Given the description of an element on the screen output the (x, y) to click on. 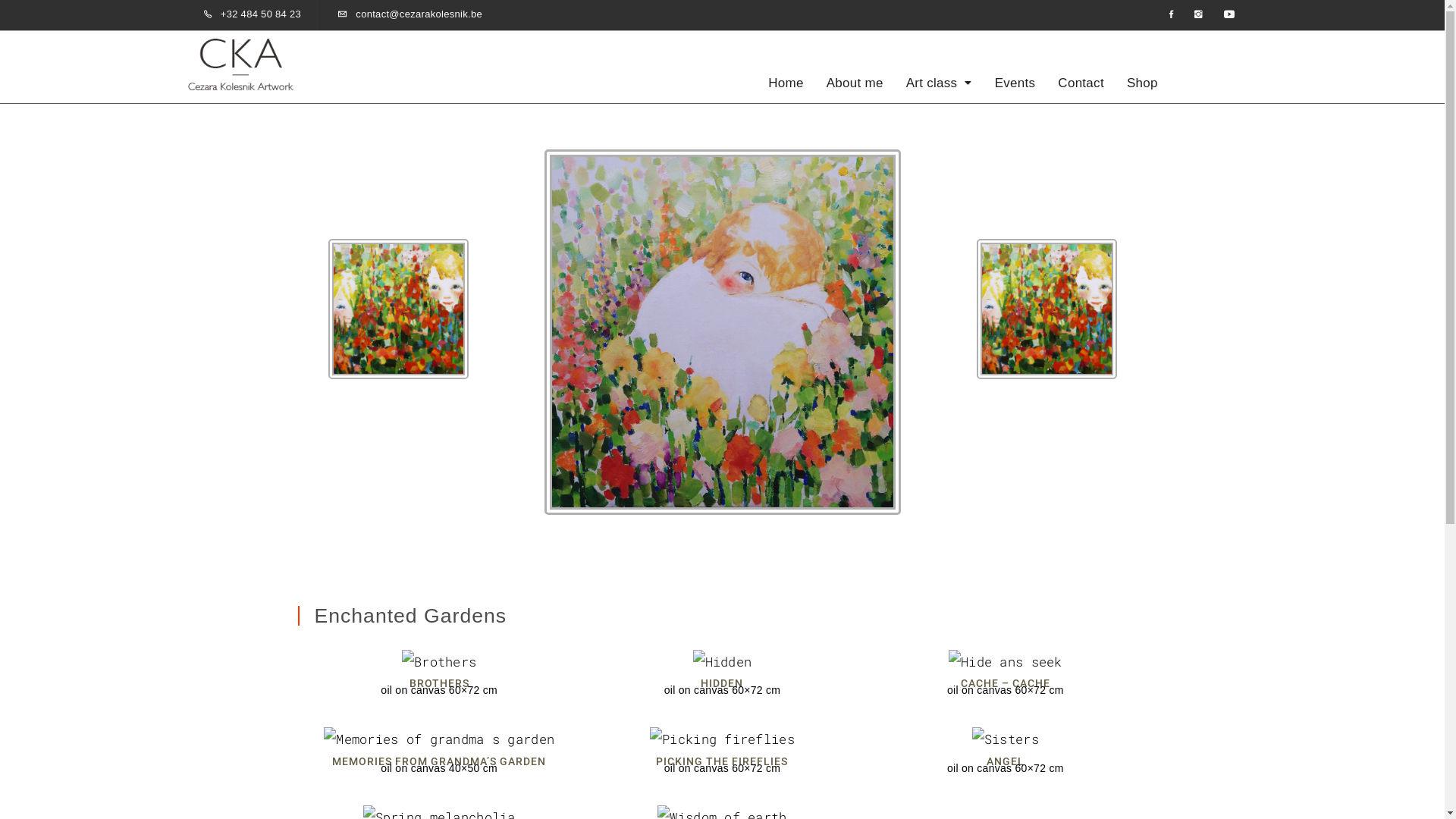
Brothers Element type: hover (438, 661)
About me Element type: text (854, 82)
Contact Element type: text (1080, 82)
Shop Element type: text (1142, 82)
Home Element type: text (785, 82)
+32 484 50 84 23 Element type: text (260, 13)
Picking fireflies Element type: hover (721, 739)
Hidden Element type: hover (722, 661)
Memories of grandma s garden Element type: hover (438, 739)
contact@cezarakolesnik.be Element type: text (418, 13)
Hide ans seek Element type: hover (1005, 661)
Events Element type: text (1015, 82)
Art class Element type: text (938, 82)
Sisters Element type: hover (1005, 739)
